Given the description of an element on the screen output the (x, y) to click on. 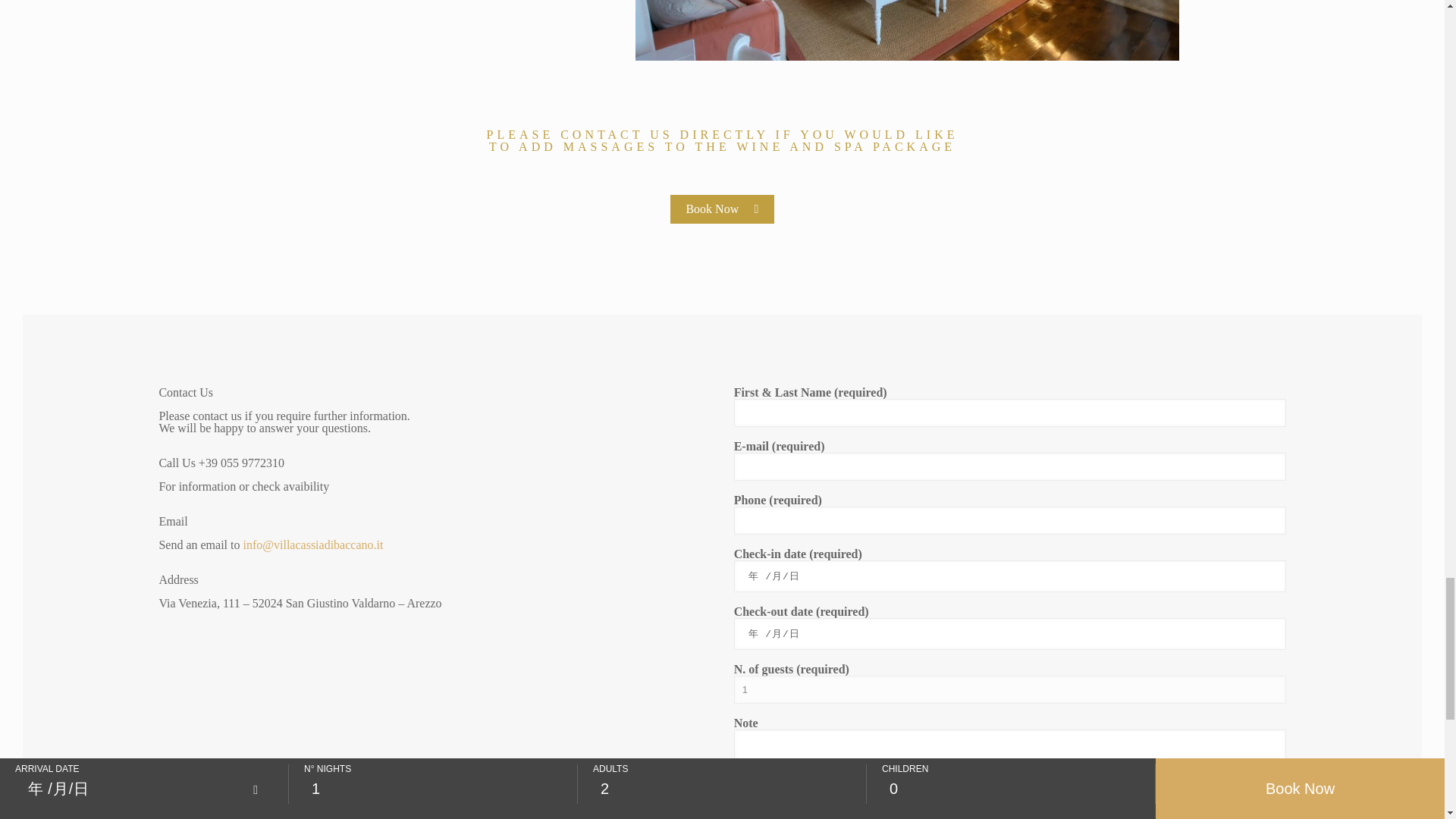
hall (906, 30)
Book Now (721, 208)
